Given the description of an element on the screen output the (x, y) to click on. 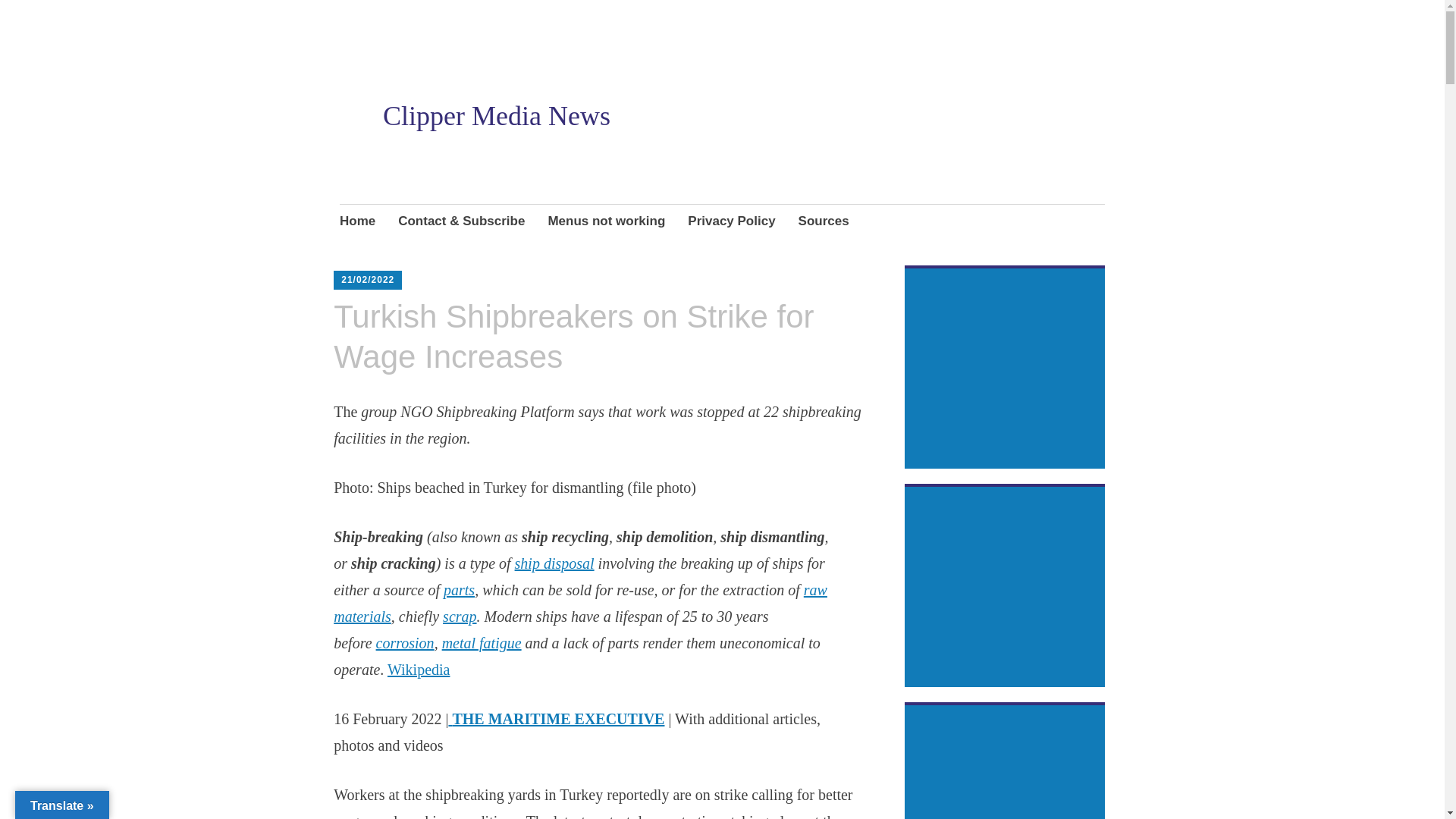
Sources (822, 222)
parts (459, 589)
Home (357, 222)
THE MARITIME EXECUTIVE (555, 718)
scrap (459, 616)
metal fatigue (481, 642)
Menus not working (606, 222)
Clipper Media News (496, 115)
corrosion (404, 642)
Wikipedia (418, 669)
